Given the description of an element on the screen output the (x, y) to click on. 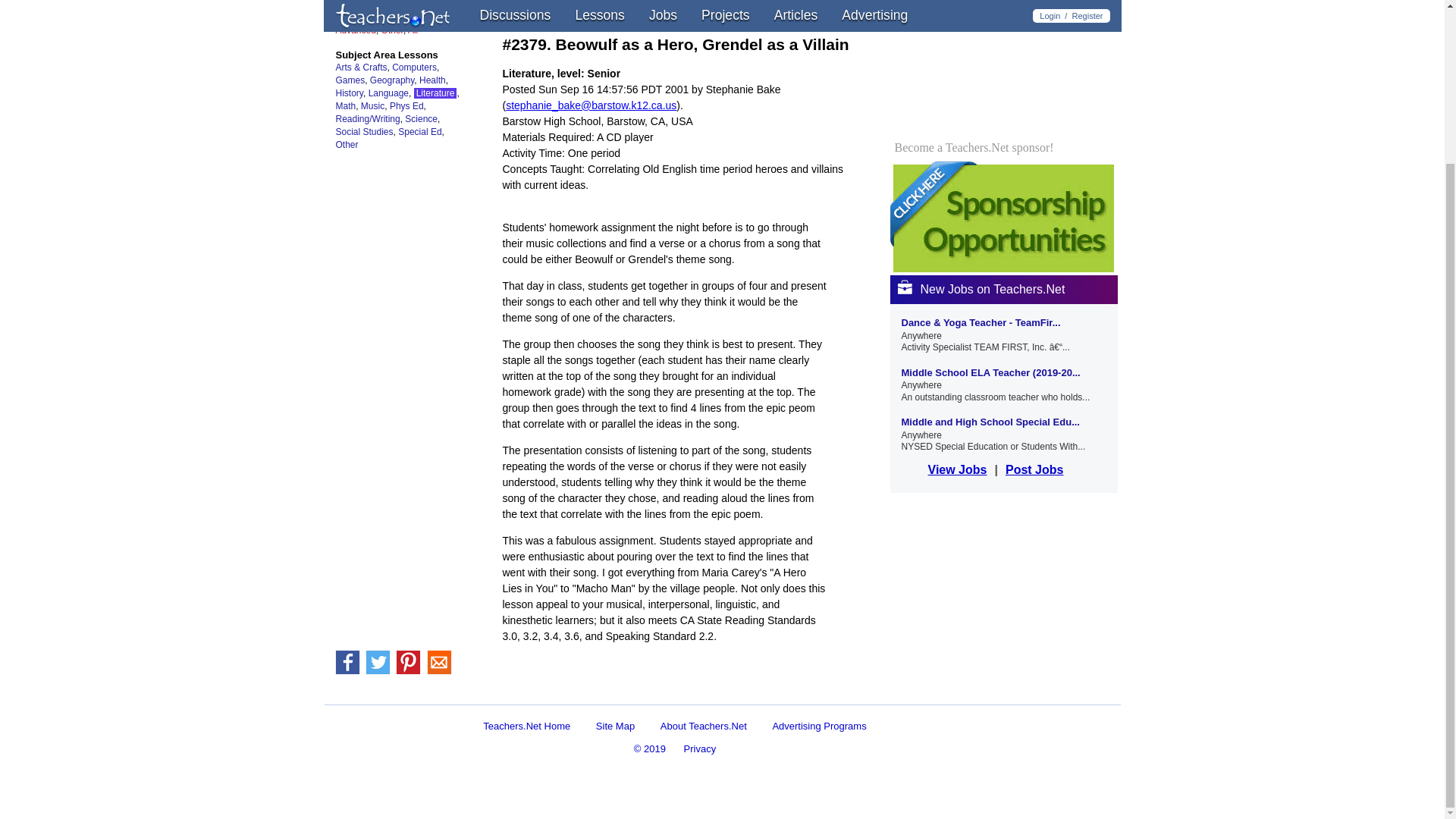
Grades 3-5 (407, 4)
Advertisement (679, 690)
Computers (413, 67)
Phys Ed (406, 105)
Geography (391, 80)
Health (432, 80)
Other (392, 30)
Science (421, 118)
High School (424, 17)
All (412, 30)
Advanced (354, 30)
Special Ed (419, 131)
Music (372, 105)
Literature (435, 92)
3rd party ad content (1003, 63)
